Given the description of an element on the screen output the (x, y) to click on. 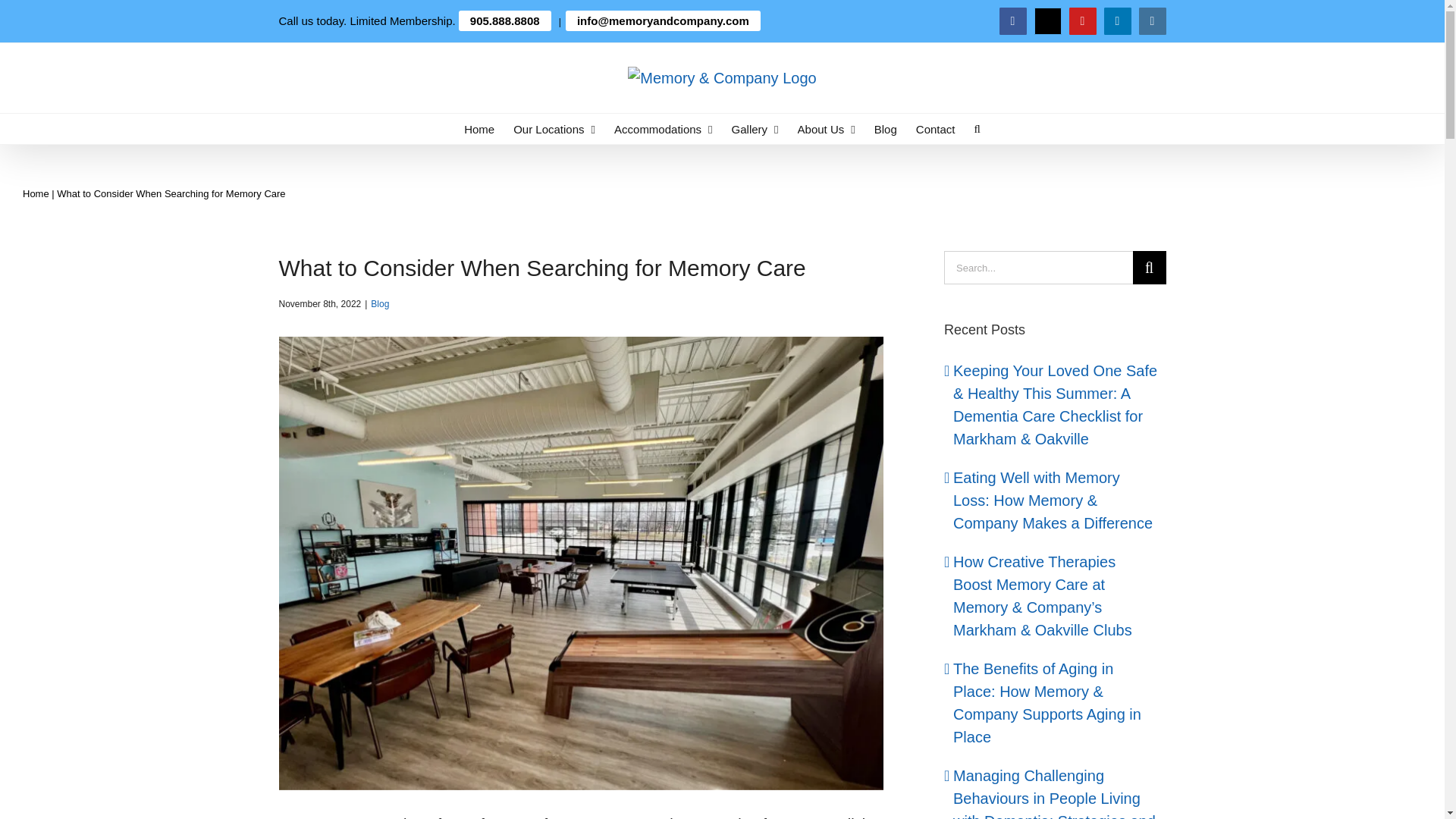
905.888.8808 (504, 20)
YouTube (1082, 21)
Home (36, 193)
Twitter (1047, 21)
Facebook (1012, 21)
Our Locations (554, 128)
Contact (935, 128)
Instagram (1152, 21)
Twitter (1047, 21)
YouTube (1082, 21)
Gallery (755, 128)
Blog (379, 303)
Facebook (1012, 21)
About Us (826, 128)
